Given the description of an element on the screen output the (x, y) to click on. 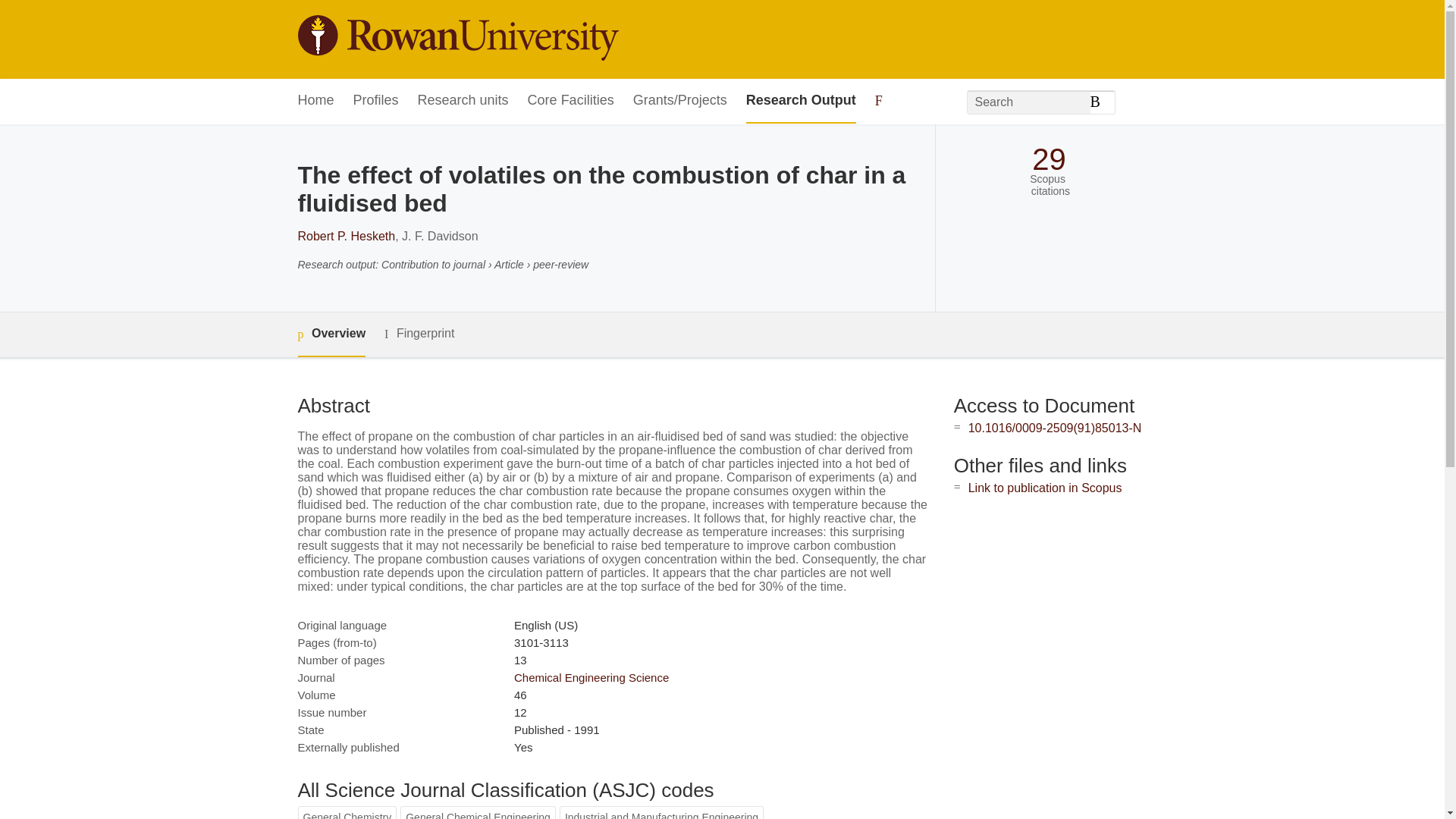
Overview (331, 334)
Profiles (375, 100)
Link to publication in Scopus (1045, 487)
Core Facilities (570, 100)
29 (1048, 159)
Research Output (800, 100)
Fingerprint (419, 333)
Robert P. Hesketh (345, 236)
Research units (462, 100)
Rowan University Home (457, 39)
Chemical Engineering Science (590, 676)
